Given the description of an element on the screen output the (x, y) to click on. 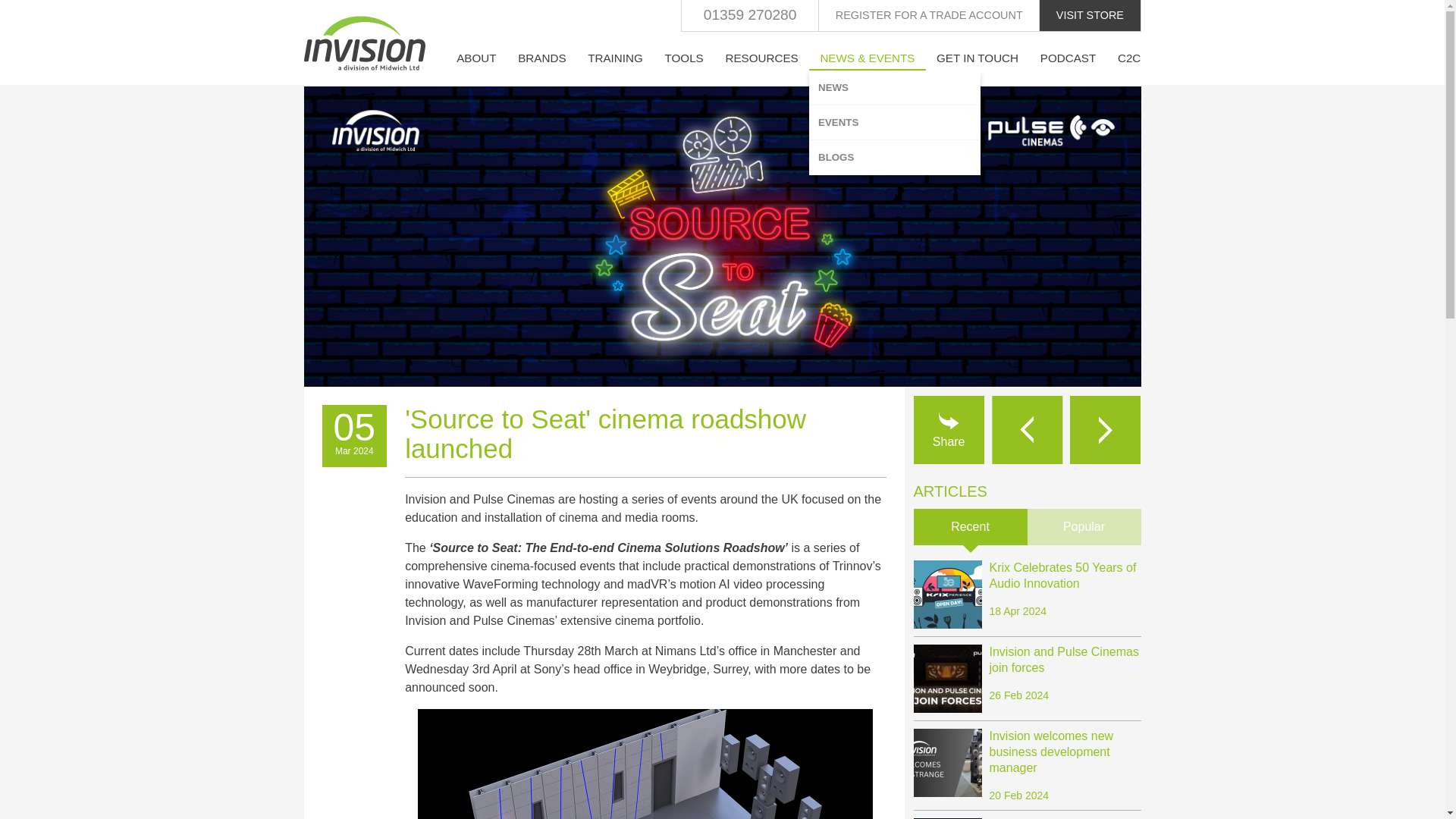
TRAINING (614, 57)
PODCAST (1067, 57)
REGISTER FOR A TRADE ACCOUNT (928, 15)
BLOGS (894, 157)
Invision UK (363, 43)
Share (948, 429)
TOOLS (683, 57)
RESOURCES (761, 57)
01359 270280 (749, 15)
NEWS (894, 87)
